Given the description of an element on the screen output the (x, y) to click on. 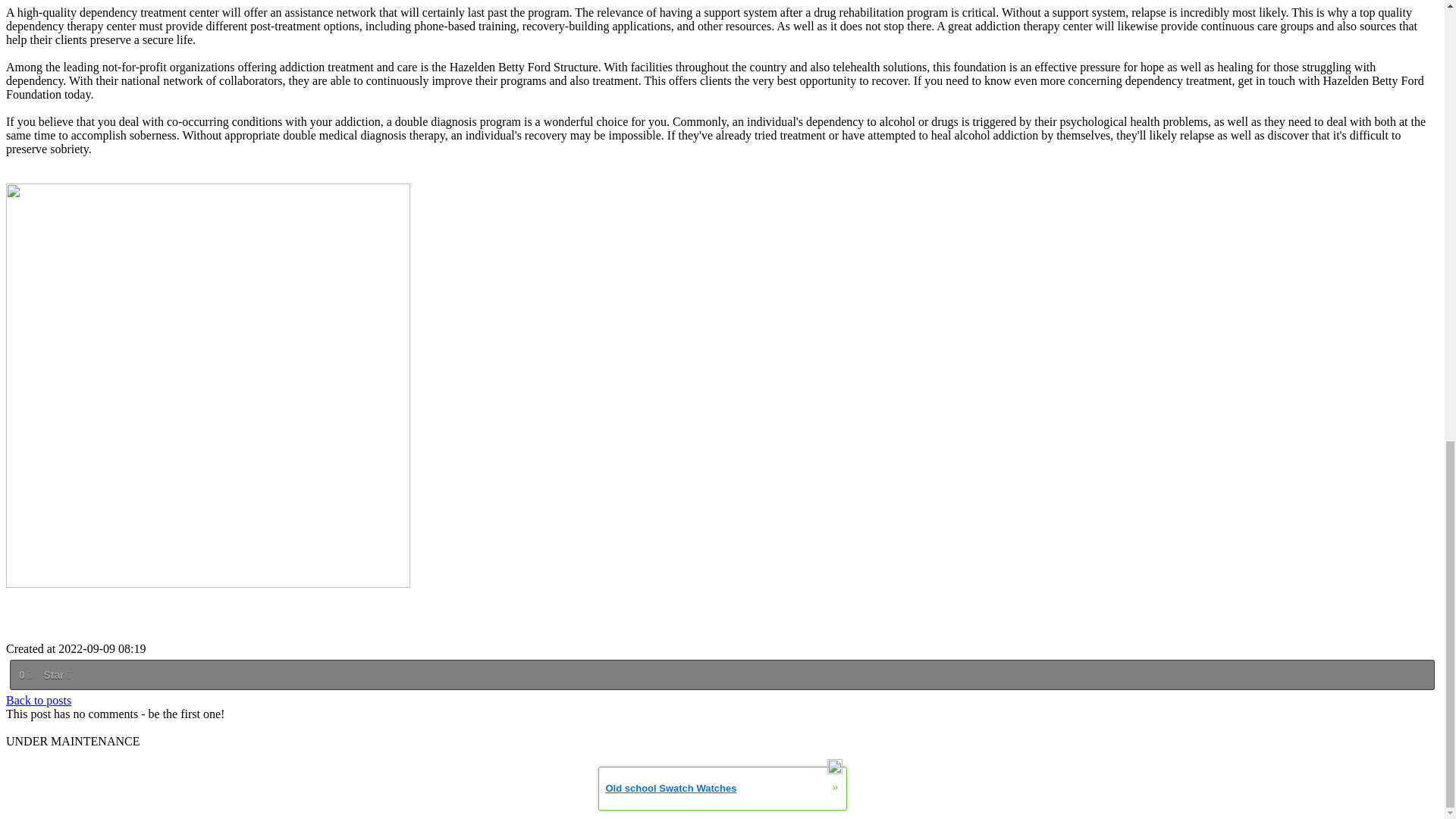
Back to posts (38, 699)
Star (56, 674)
0 (24, 674)
